Given the description of an element on the screen output the (x, y) to click on. 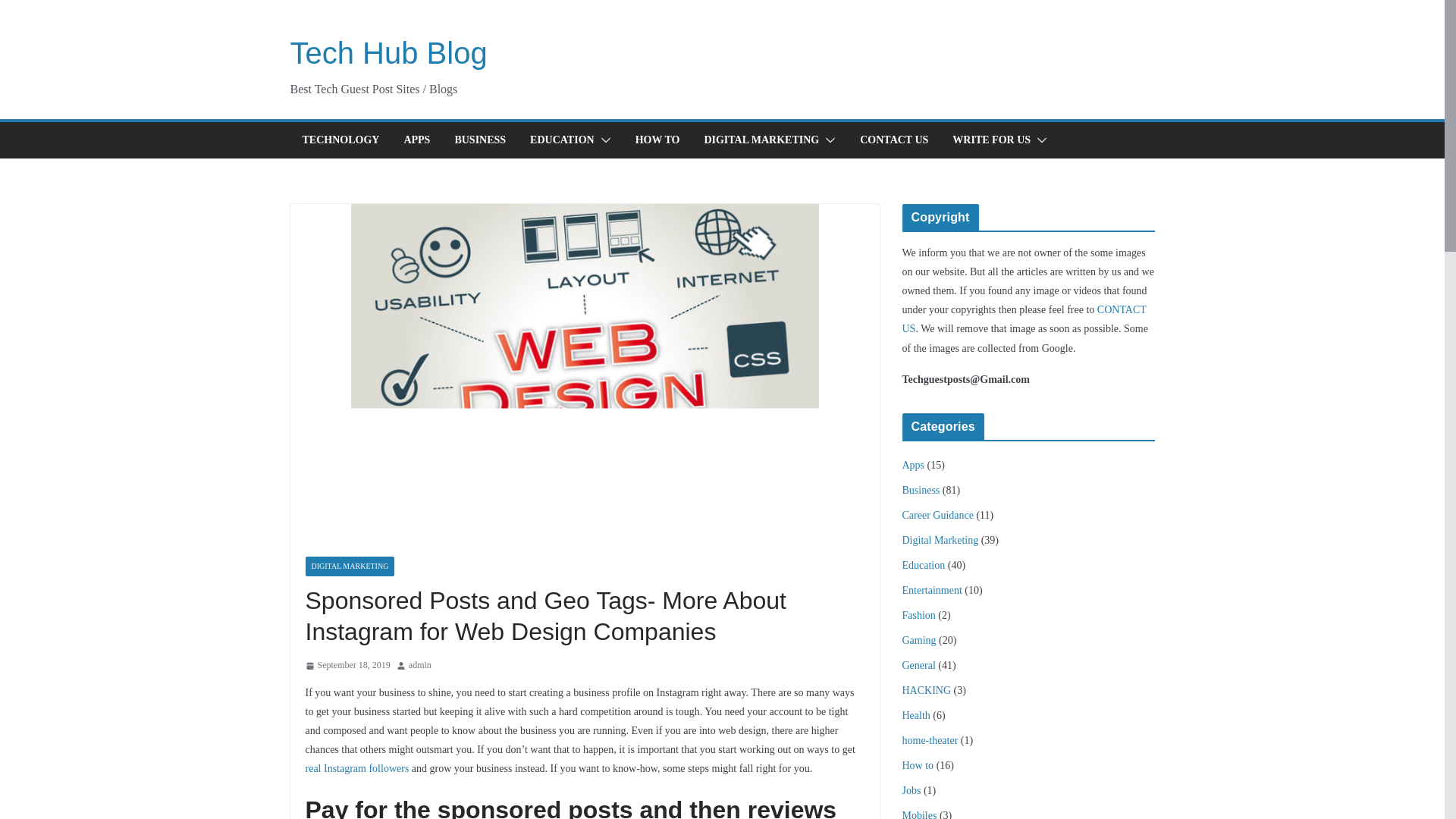
How to (918, 765)
Digital Marketing (940, 540)
Tech Hub Blog (387, 52)
CONTACT US (1024, 318)
TECHNOLOGY (339, 139)
EDUCATION (561, 139)
DIGITAL MARKETING (349, 566)
Fashion (919, 614)
Entertainment (932, 590)
Business (921, 490)
